Given the description of an element on the screen output the (x, y) to click on. 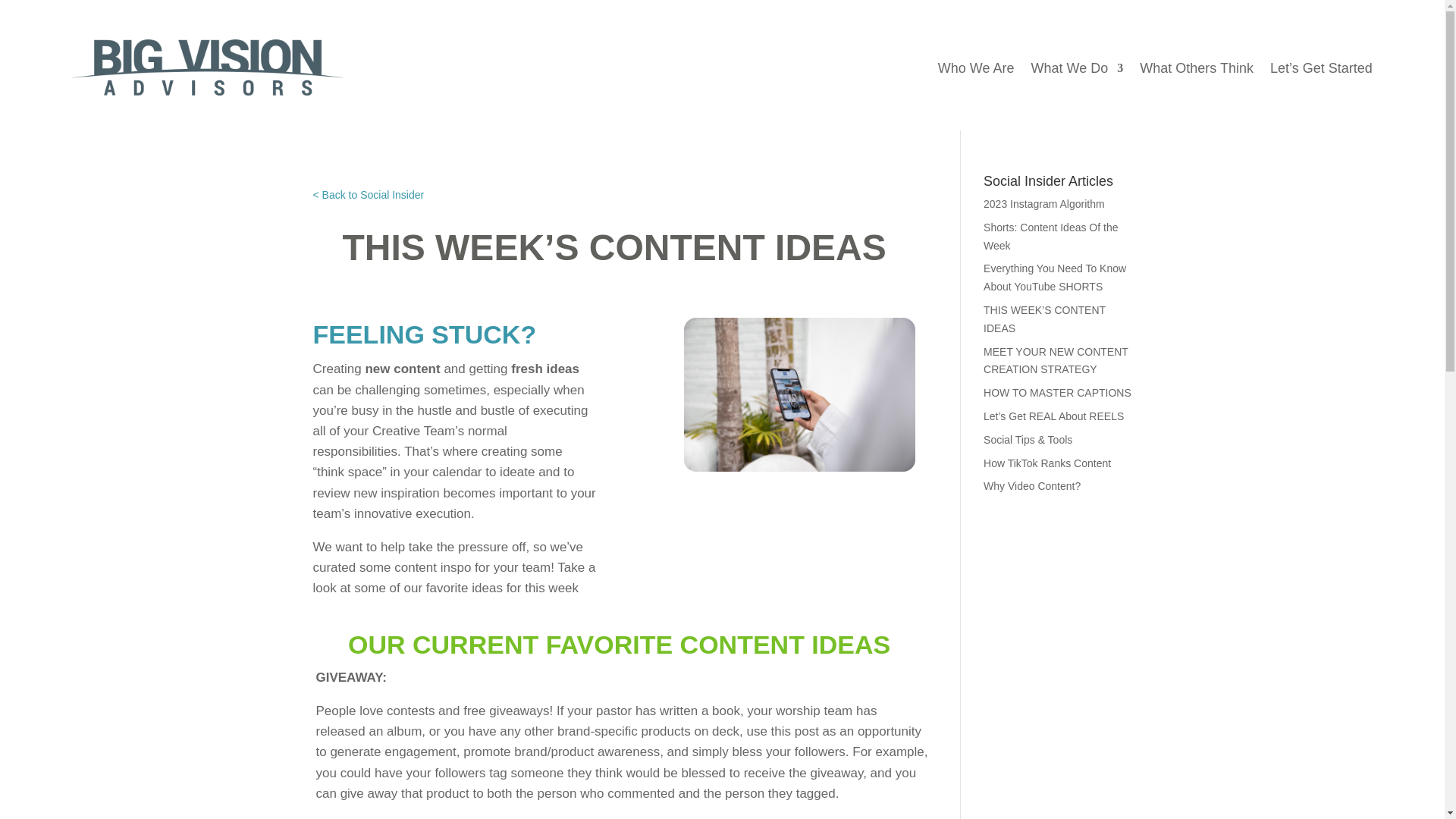
What Others Think (1196, 70)
Shorts: Content Ideas Of the Week (1051, 236)
Why Video Content? (1032, 485)
What We Do (1077, 70)
2023 Instagram Algorithm (1044, 203)
MEET YOUR NEW CONTENT CREATION STRATEGY (1056, 360)
Big-Vision-Advisors-Logo (206, 67)
How TikTok Ranks Content (1047, 463)
plann-iZgsDrgDR9w-unsplash (799, 394)
Who We Are (975, 70)
